Given the description of an element on the screen output the (x, y) to click on. 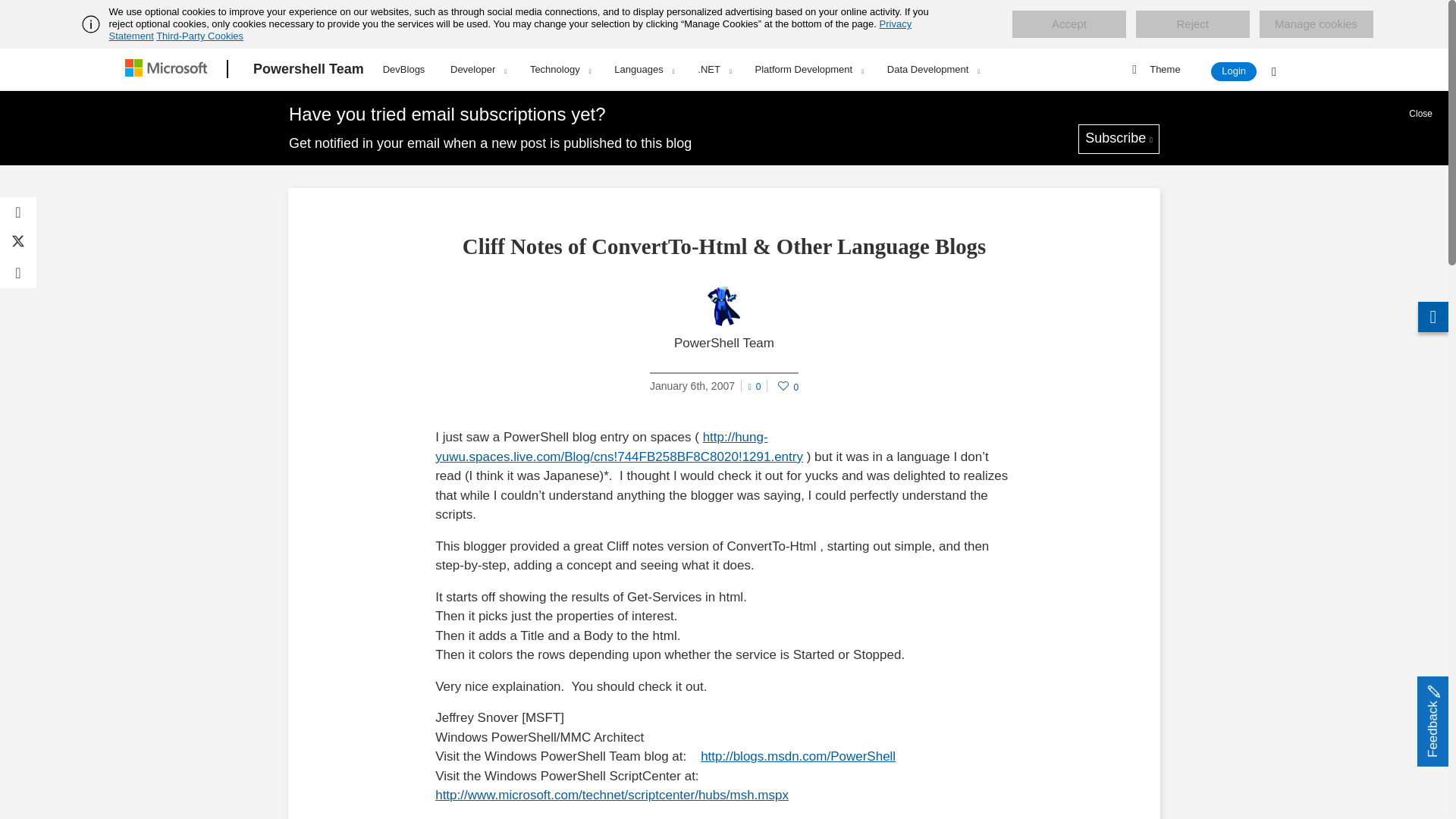
Share on Facebook (18, 212)
Privacy Statement (510, 29)
DevBlogs (403, 67)
Share on Twitter (18, 242)
Manage cookies (1316, 23)
Developer (478, 69)
Powershell Team (308, 69)
Languages (643, 69)
Reject (1192, 23)
Share on LinkedIn (18, 272)
